Given the description of an element on the screen output the (x, y) to click on. 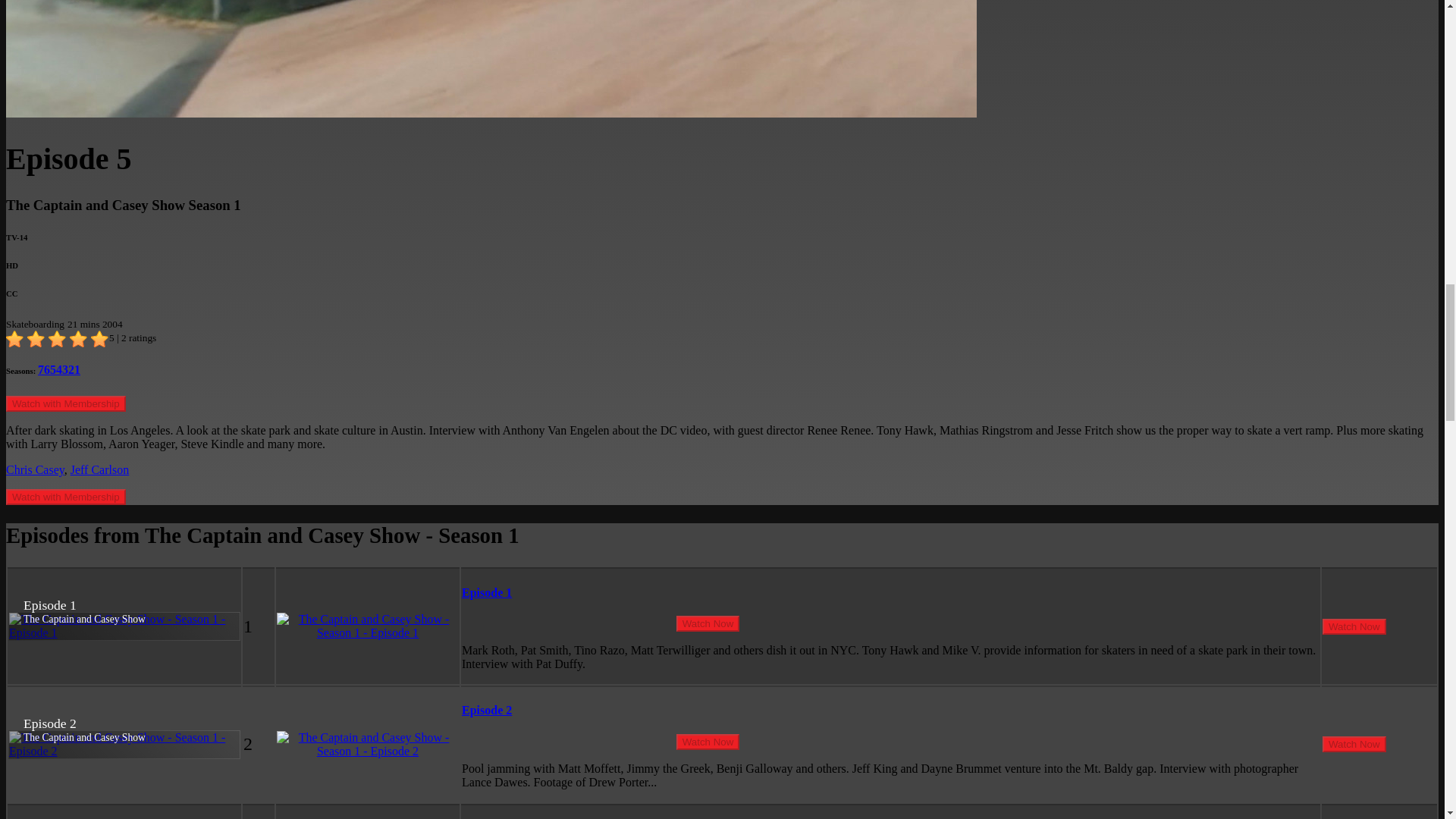
liked it (57, 339)
really like it (78, 339)
loved it (99, 339)
hated it (14, 339)
Episode 2 (486, 709)
Episode 1 (486, 592)
didn't like it (36, 339)
Watch with Membership (65, 403)
